Given the description of an element on the screen output the (x, y) to click on. 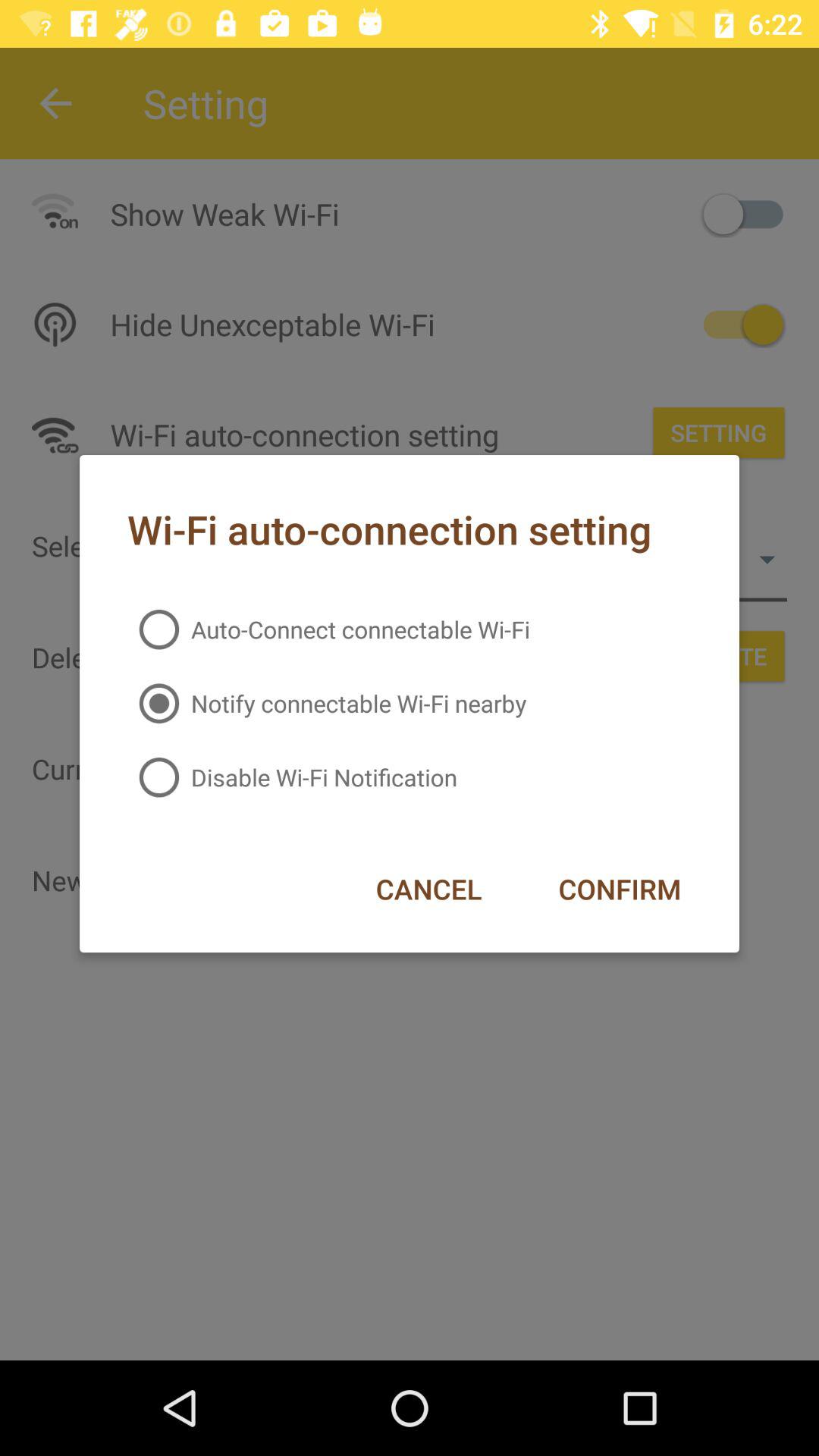
open icon next to cancel (619, 888)
